Given the description of an element on the screen output the (x, y) to click on. 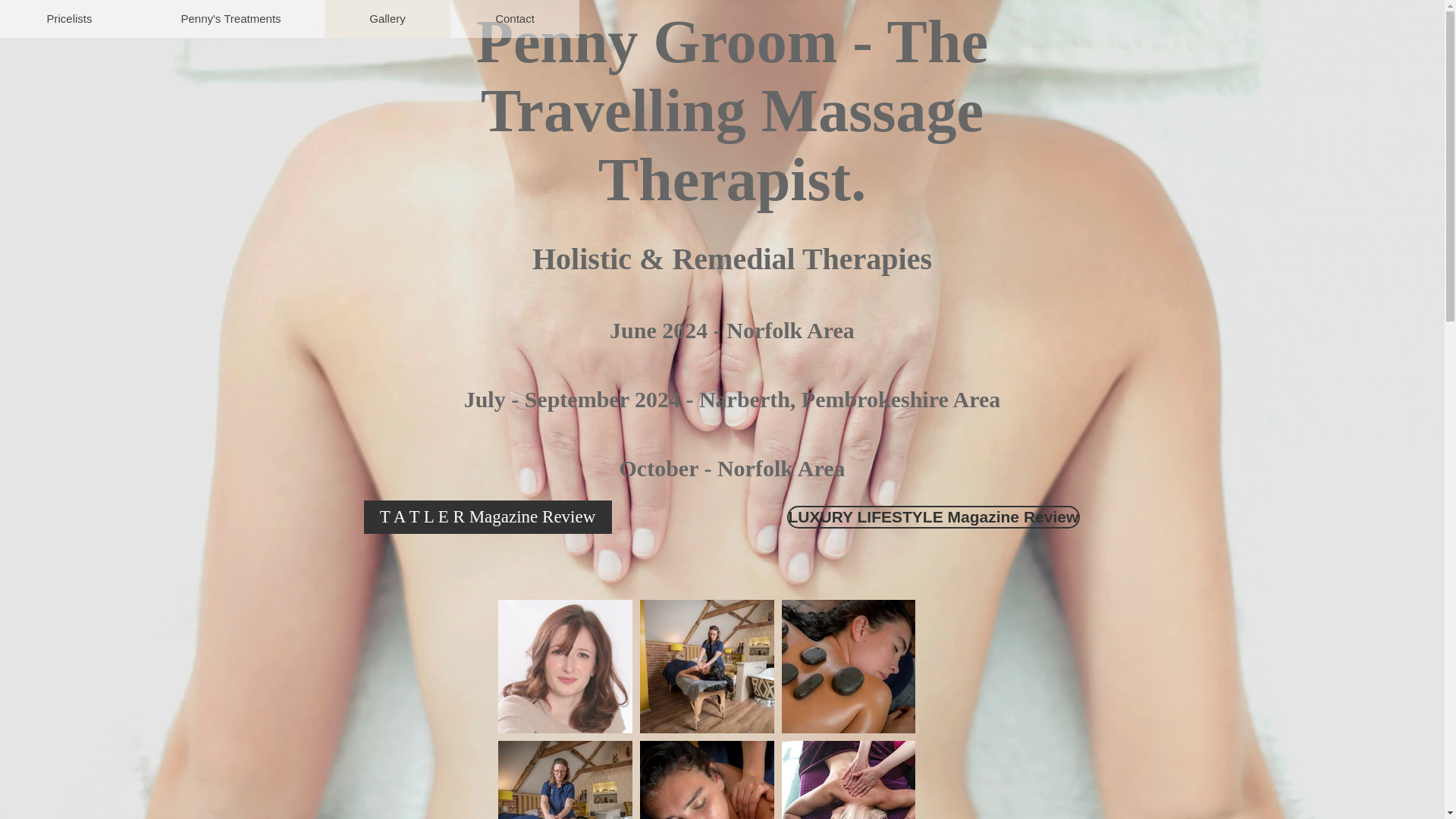
LUXURY LIFESTYLE Magazine Review (933, 517)
T A T L E R Magazine Review (487, 516)
Pricelists (68, 18)
Contact (514, 18)
Penny's Treatments (229, 18)
Gallery (386, 18)
